Given the description of an element on the screen output the (x, y) to click on. 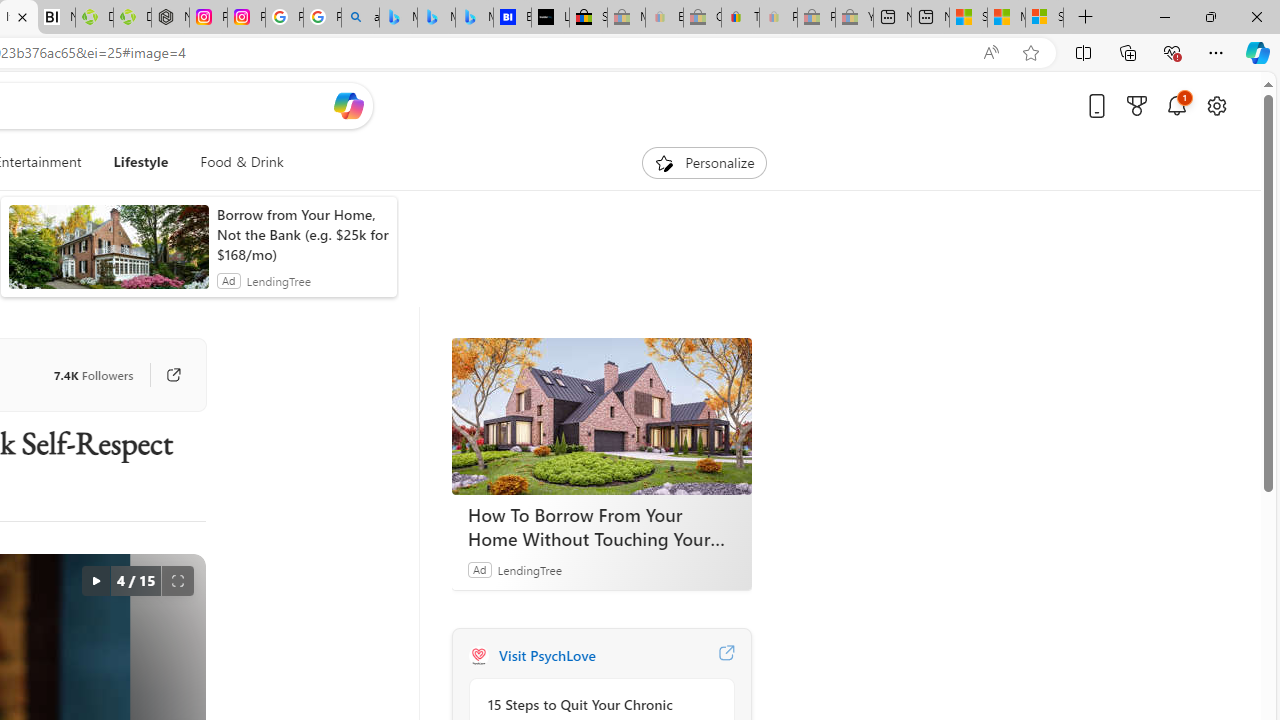
alabama high school quarterback dies - Search (359, 17)
LendingTree (528, 569)
Visit PsychLove website (726, 655)
Press Room - eBay Inc. - Sleeping (815, 17)
Payments Terms of Use | eBay.com - Sleeping (778, 17)
